Given the description of an element on the screen output the (x, y) to click on. 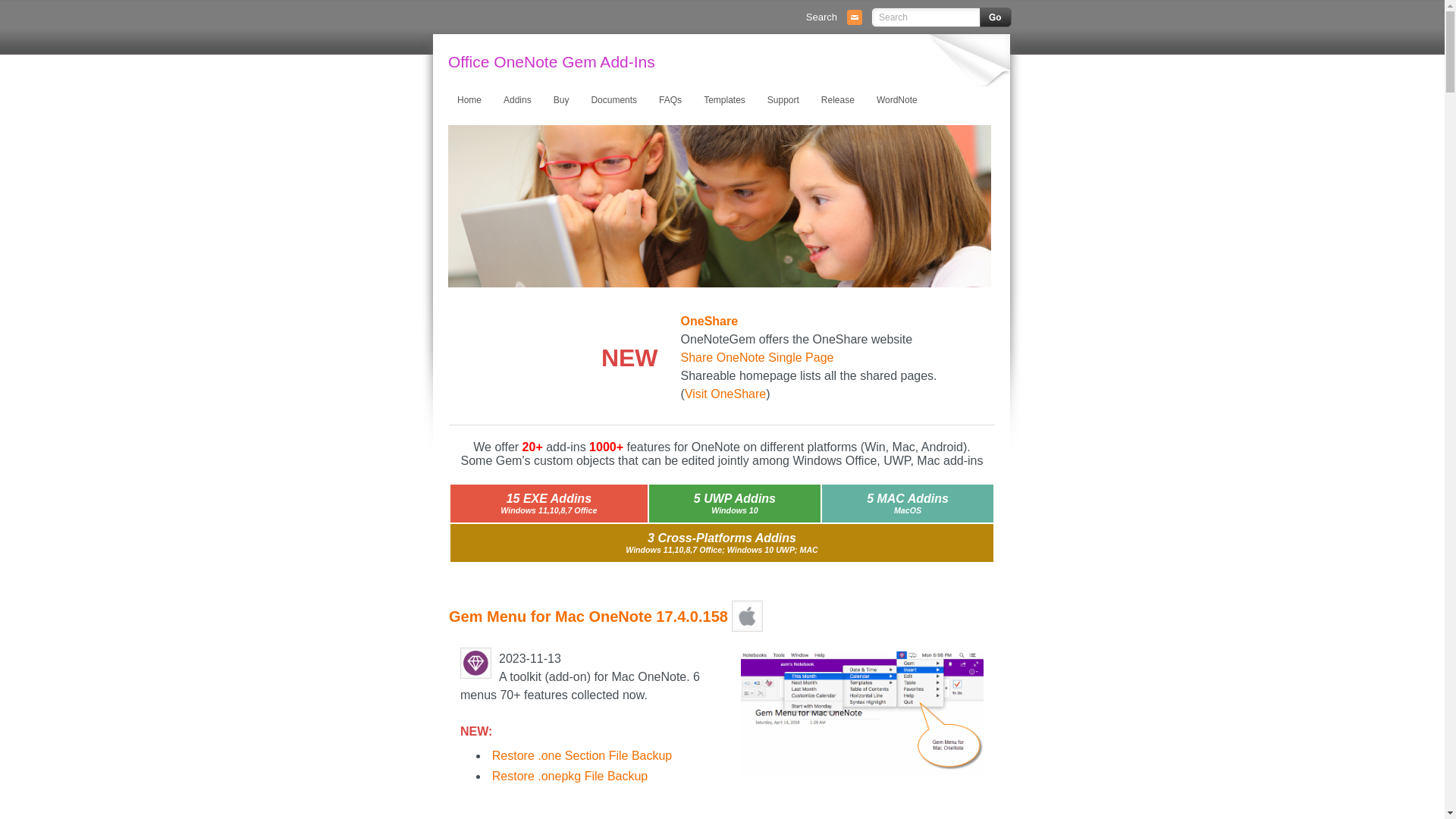
Buy Element type: text (560, 99)
FAQs Element type: text (668, 99)
Templates Element type: text (723, 99)
Visit OneShare Element type: text (724, 393)
OneShare Element type: text (709, 320)
Office OneNote Gem Add-Ins Element type: text (551, 61)
Restore .onepkg File Backup Element type: text (569, 775)
Gem Menu for Mac OneNote 17.4.0.158 Element type: text (588, 616)
Share OneNote Single Page Element type: text (757, 357)
5 MAC Addins
MacOS Element type: text (907, 503)
Release Element type: text (836, 99)
Home Element type: text (468, 99)
15 EXE Addins
Windows 11,10,8,7 Office Element type: text (548, 503)
Restore .one Section File Backup Element type: text (581, 755)
Support Element type: text (782, 99)
Addins Element type: text (516, 99)
WordNote Element type: text (895, 99)
5 UWP Addins
Windows 10 Element type: text (734, 503)
Documents Element type: text (612, 99)
